Given the description of an element on the screen output the (x, y) to click on. 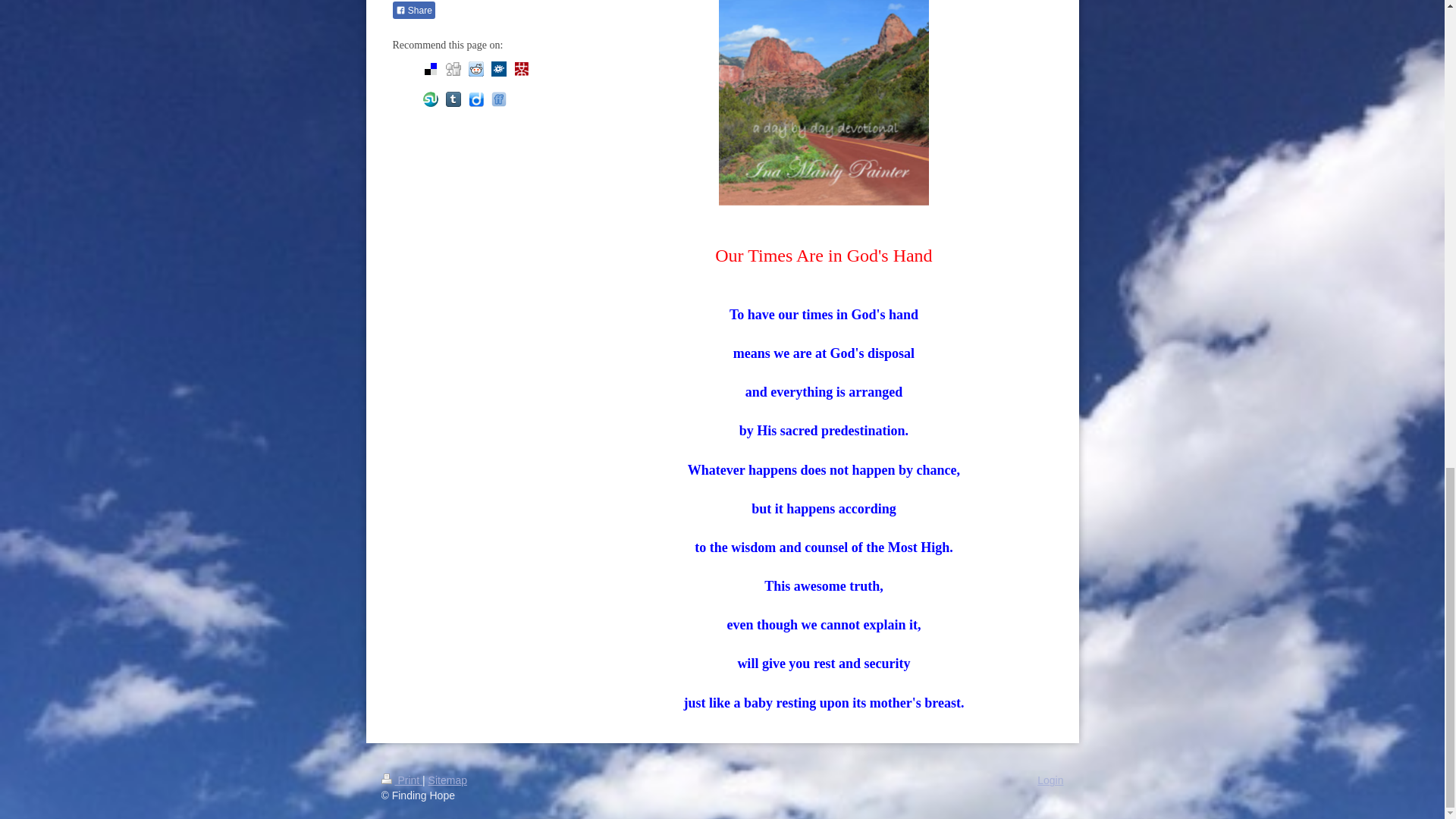
Folkd (499, 68)
Mister Wong (521, 68)
Tumblr (453, 99)
Delicious (430, 68)
Reddit (475, 68)
Diigo (475, 99)
Stumble Upon (430, 99)
Digg (453, 68)
FriendFeed (499, 99)
